Given the description of an element on the screen output the (x, y) to click on. 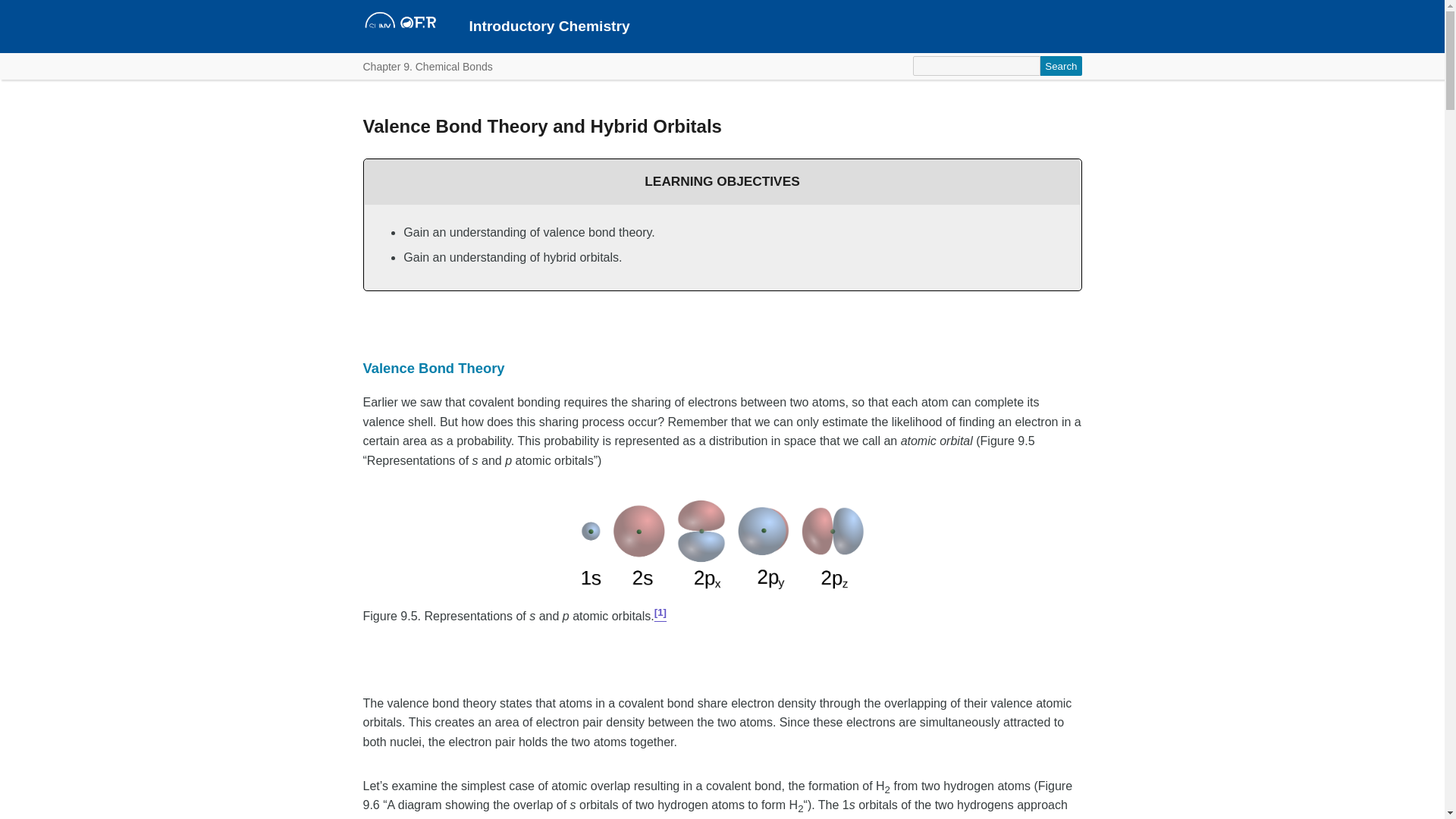
Search (1061, 66)
Search (1061, 66)
Introductory Chemistry (548, 26)
Introductory Chemistry (548, 26)
